Given the description of an element on the screen output the (x, y) to click on. 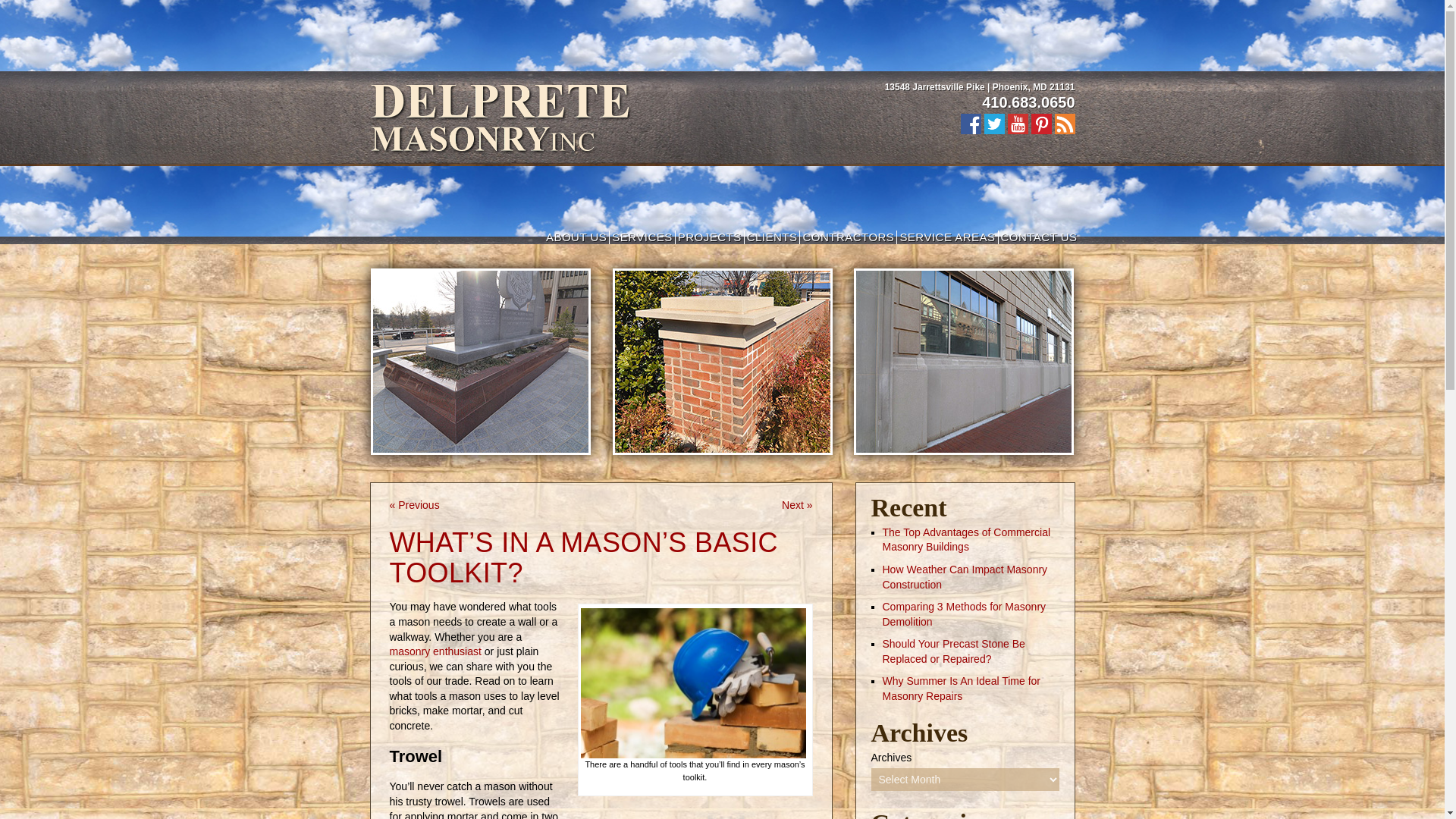
410.683.0650 (1027, 102)
Service Areas (946, 236)
Projects (709, 236)
CLIENTS (771, 236)
About Us (576, 236)
SERVICE AREAS (946, 236)
masonry enthusiast (435, 651)
PROJECTS (709, 236)
SERVICES (641, 236)
Follow us on youtube (1017, 123)
Services (641, 236)
Contractors (847, 236)
Follow us on twitter (994, 123)
Follow us on facebook (969, 123)
The Top Advantages of Commercial Masonry Buildings (966, 539)
